Given the description of an element on the screen output the (x, y) to click on. 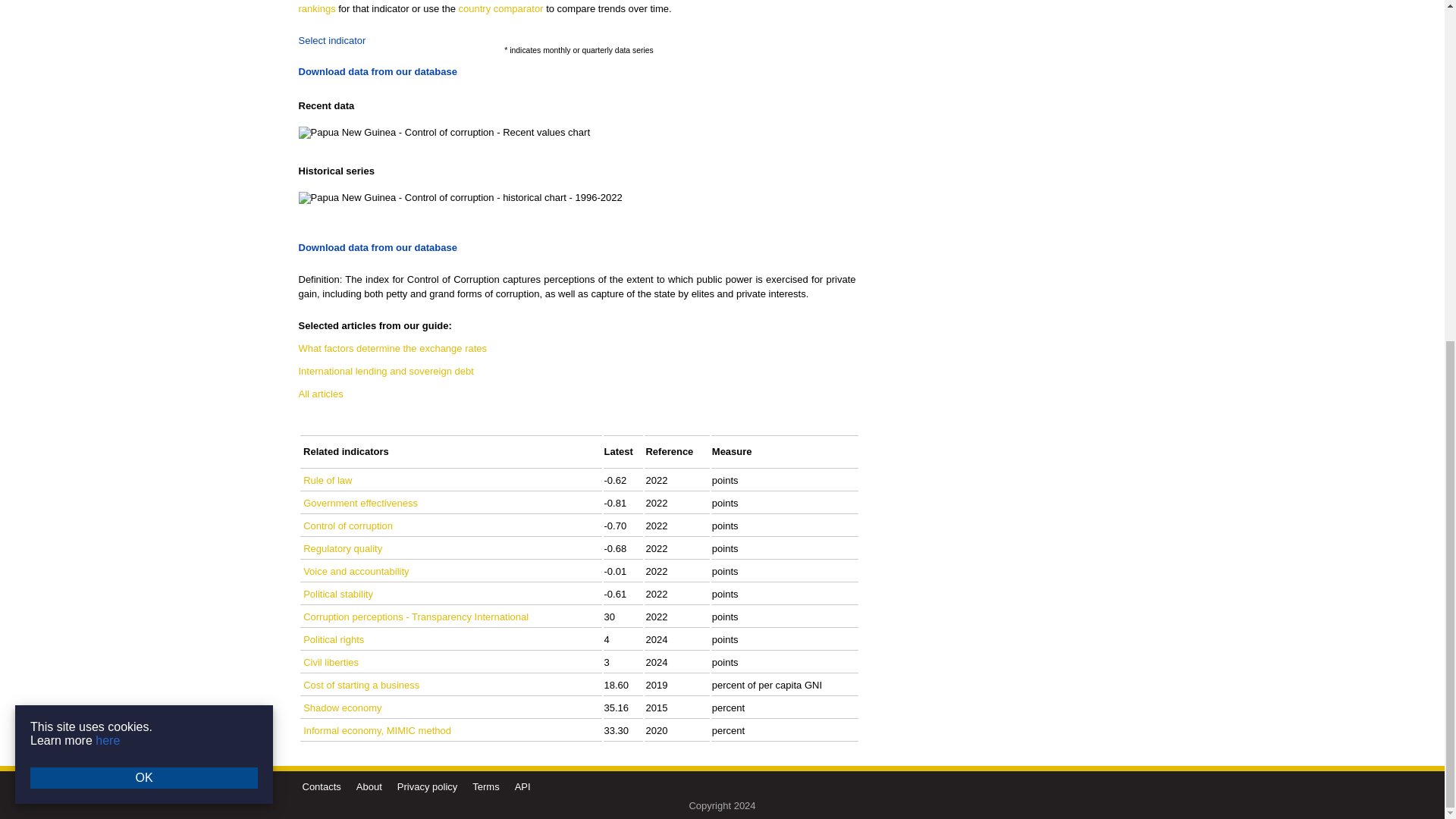
country comparator (500, 8)
global rankings (577, 7)
Download data from our database (377, 71)
Select indicator (332, 40)
What factors determine the exchange rates (392, 348)
Download data from our database (377, 247)
